Given the description of an element on the screen output the (x, y) to click on. 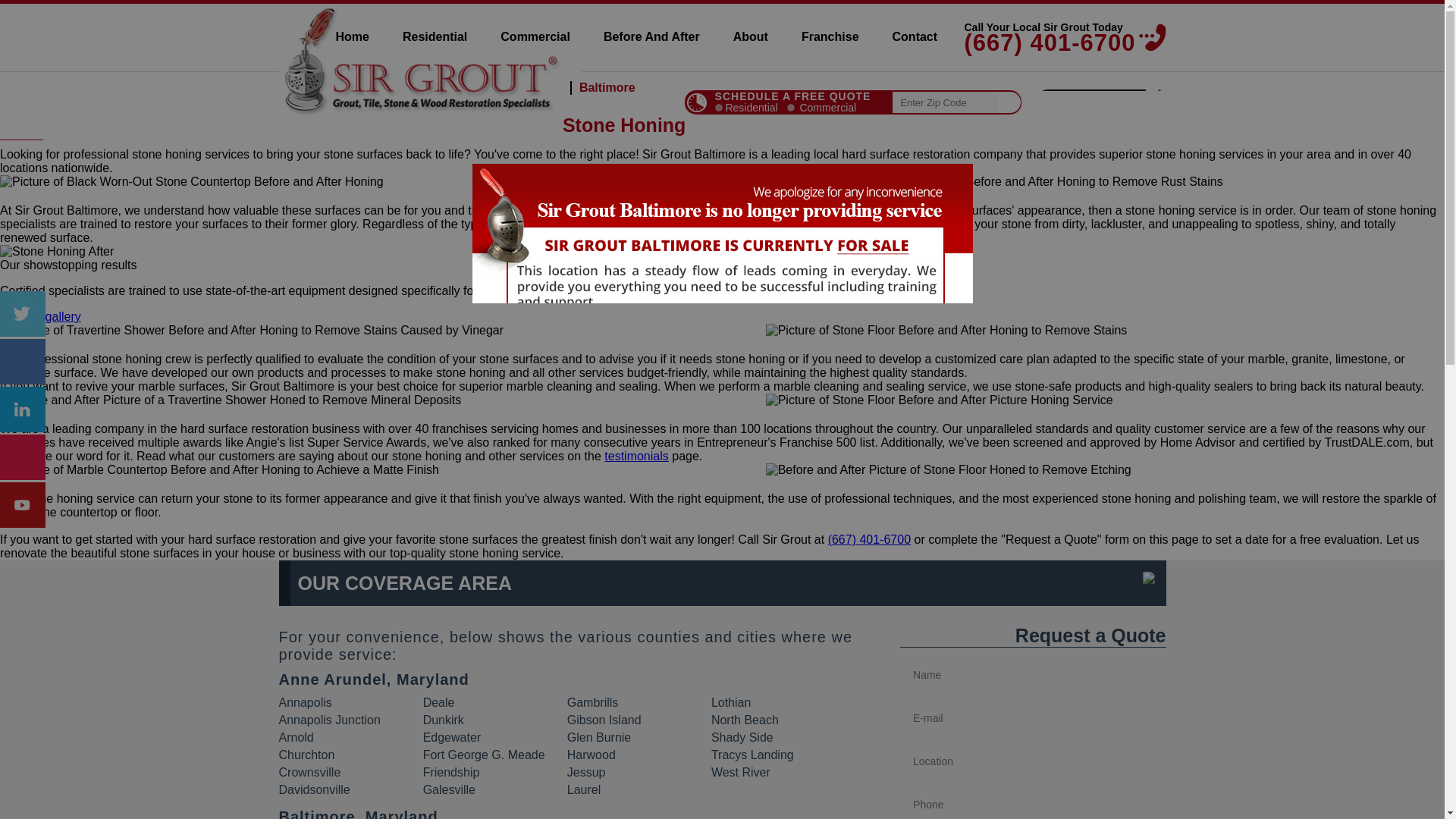
1 (718, 107)
Why Sir Grout? (721, 404)
2 (790, 107)
Sir Grout Baltimore (332, 36)
Residential (434, 36)
About (750, 36)
Before And After (651, 36)
Franchise (830, 36)
Residential Services (434, 36)
Home (332, 36)
